Given the description of an element on the screen output the (x, y) to click on. 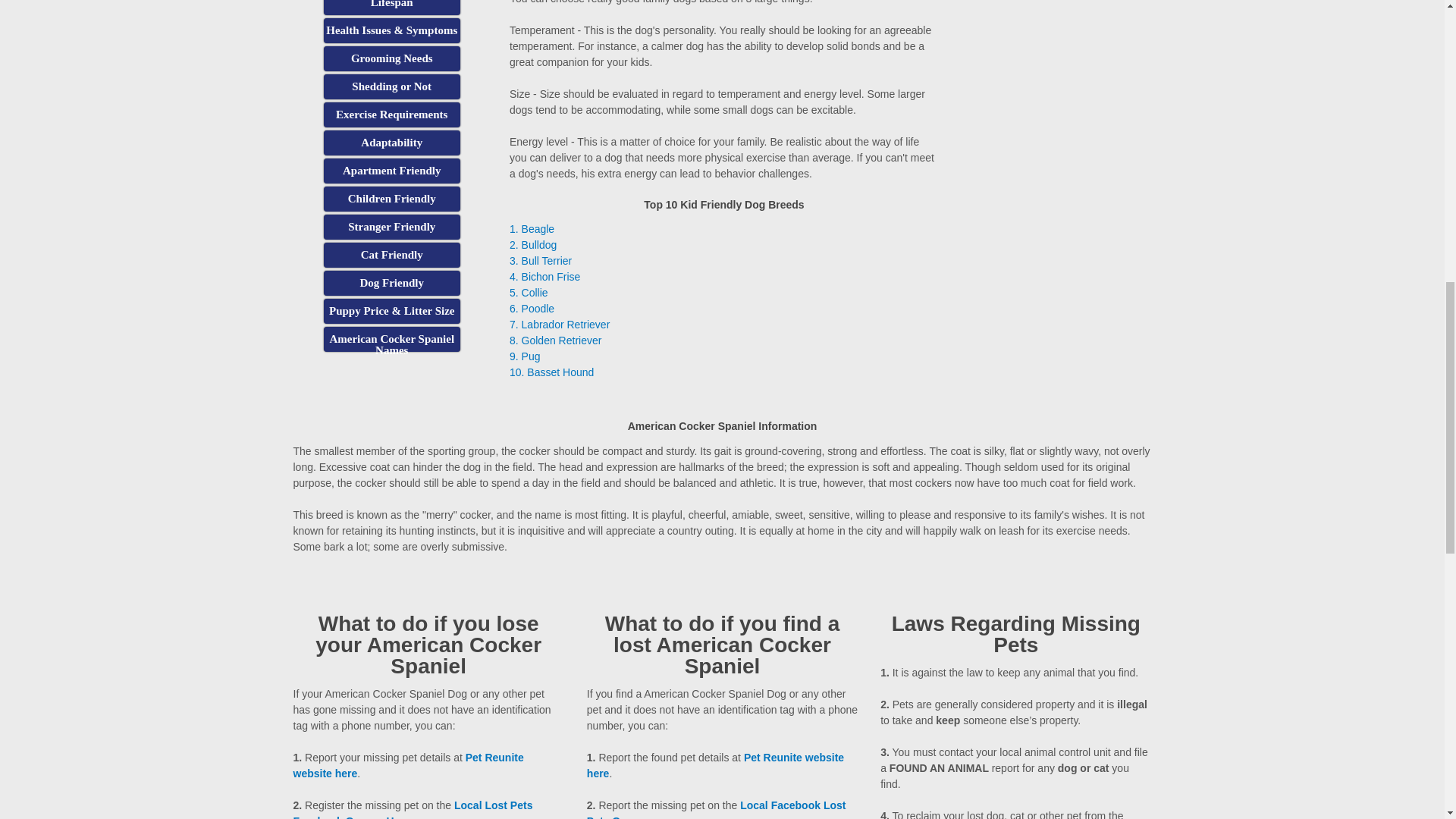
Do American Cocker Spaniel Dogs needs lot of looking after? (391, 58)
Are American Cocker Spaniel Dogs easy to adapt? (391, 142)
How long can American Cocker Spaniel Dogs live for? (391, 7)
Do American Cocker Spaniel Dogs shed a lot? (391, 86)
Do American Cocker Spaniel Dogs need lots of exercise? (391, 114)
Can American Cocker Spaniel Dogs live in apartments? (391, 170)
